Given the description of an element on the screen output the (x, y) to click on. 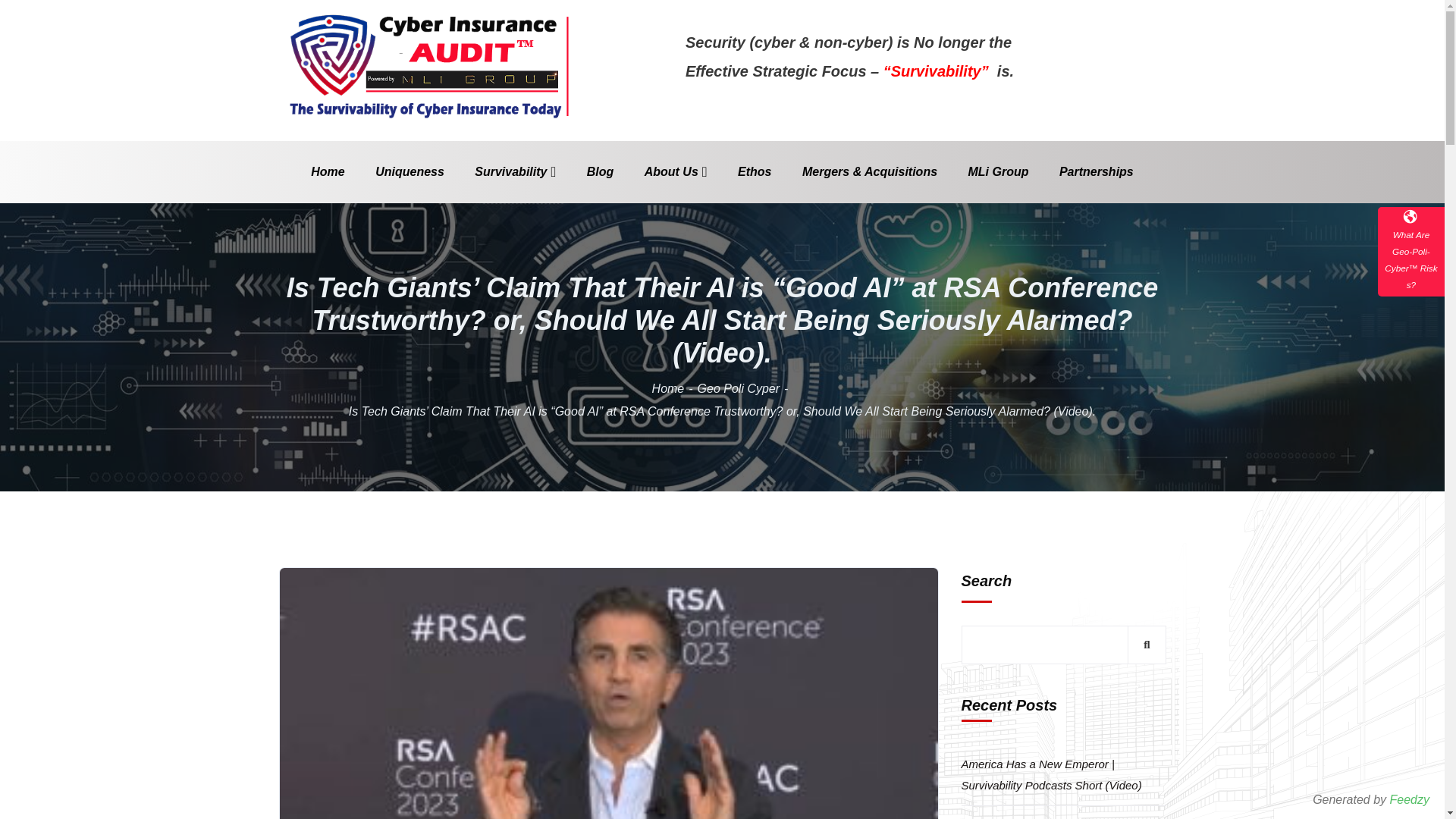
MLi Group (997, 171)
About Us (676, 171)
Survivability (515, 171)
Uniqueness (409, 171)
Partnerships (1096, 171)
